Given the description of an element on the screen output the (x, y) to click on. 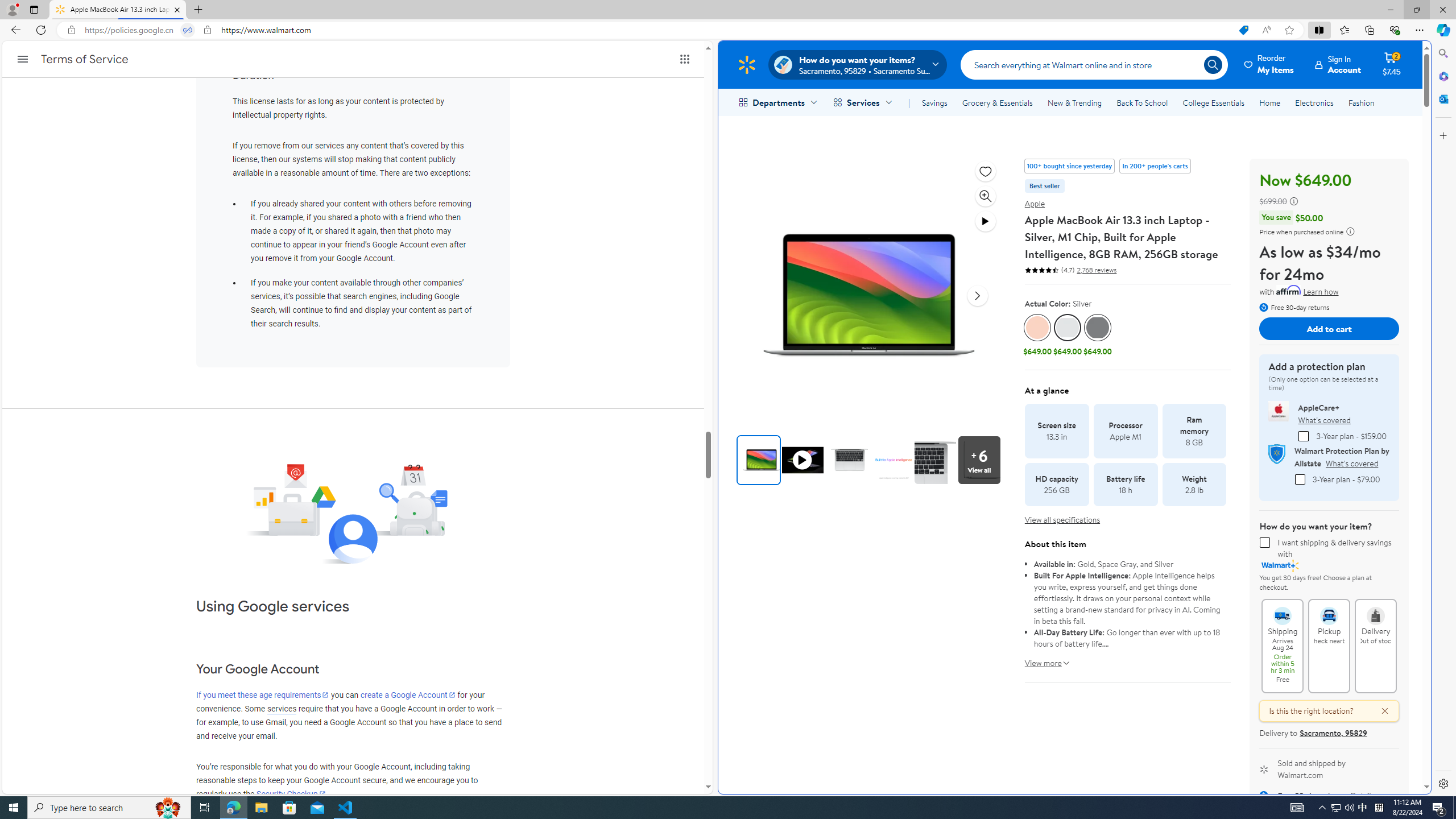
Sign InAccount (1338, 64)
Learn how (1321, 291)
View all media (982, 459)
Back To School (1141, 102)
Details of Return policy (1361, 795)
